Given the description of an element on the screen output the (x, y) to click on. 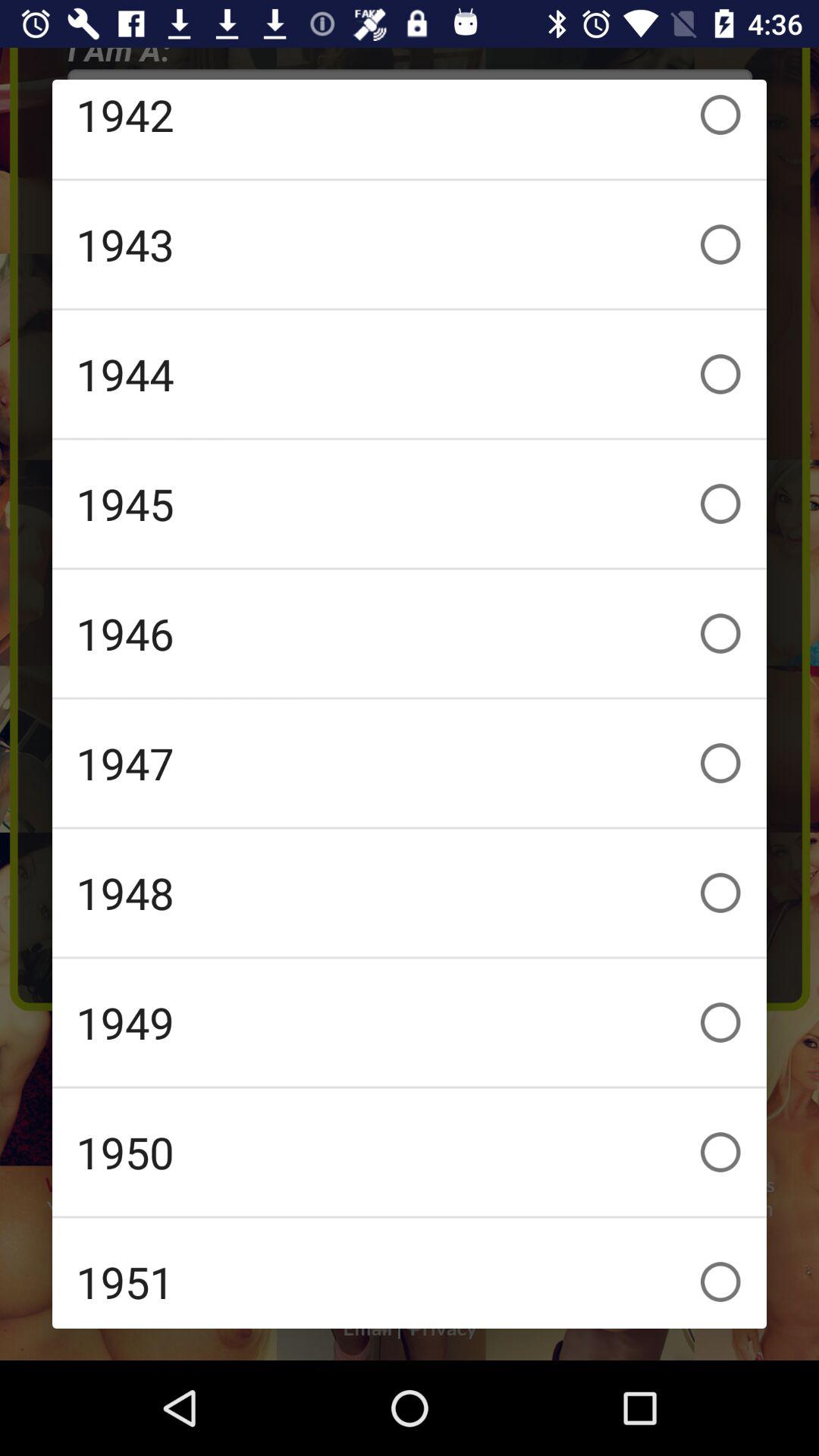
tap the checkbox below 1944 item (409, 503)
